Given the description of an element on the screen output the (x, y) to click on. 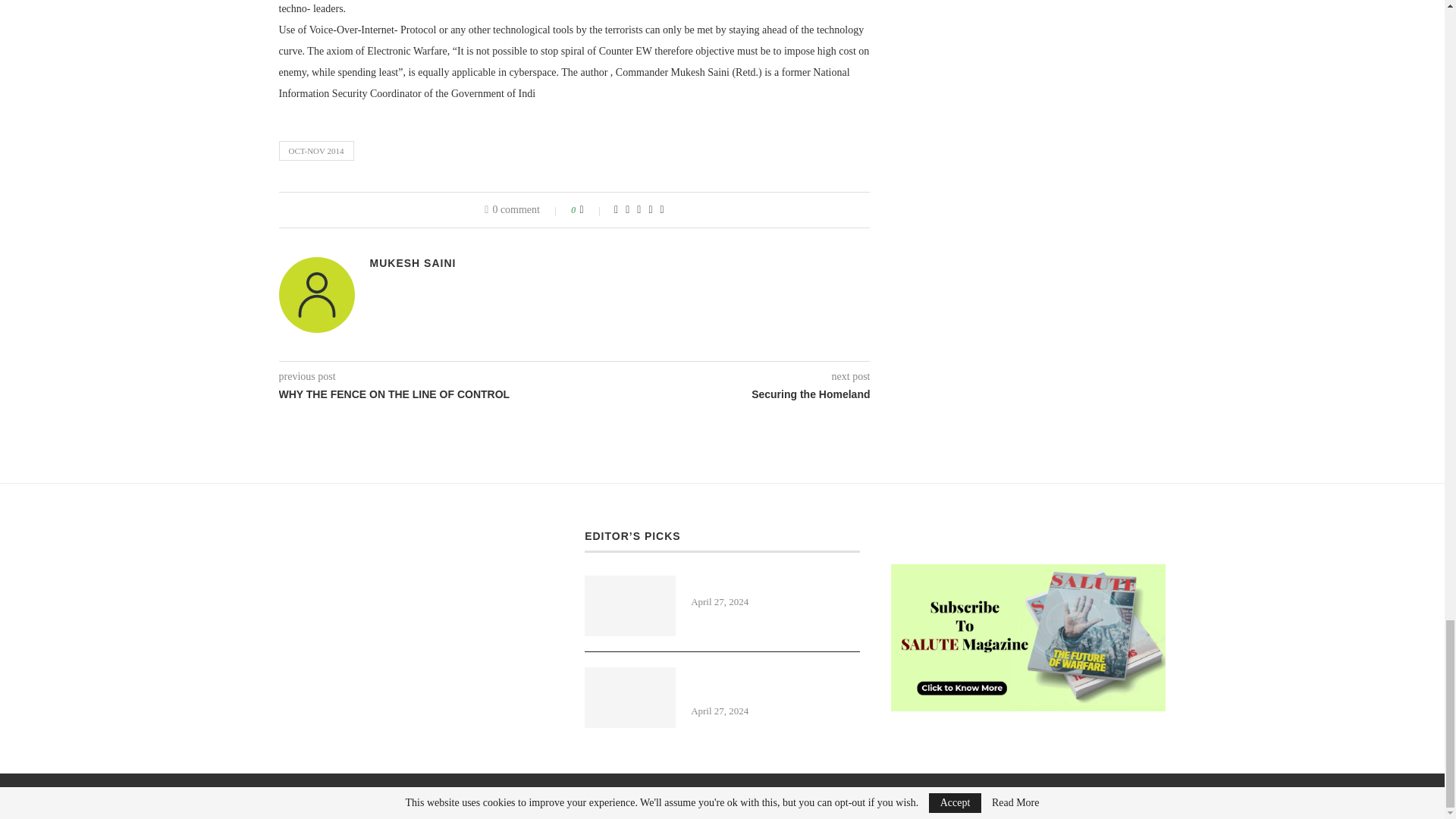
Like (591, 209)
How China Took Over Tibet (775, 583)
WHY THE FENCE ON THE LINE OF CONTROL (427, 394)
MUKESH SAINI (413, 263)
OCT-NOV 2014 (316, 150)
How China Took Over Tibet (630, 605)
Securing the Homeland (722, 394)
Author Mukesh Saini (413, 263)
CONTACT US (925, 535)
How China Took Over Tibet (775, 583)
